Given the description of an element on the screen output the (x, y) to click on. 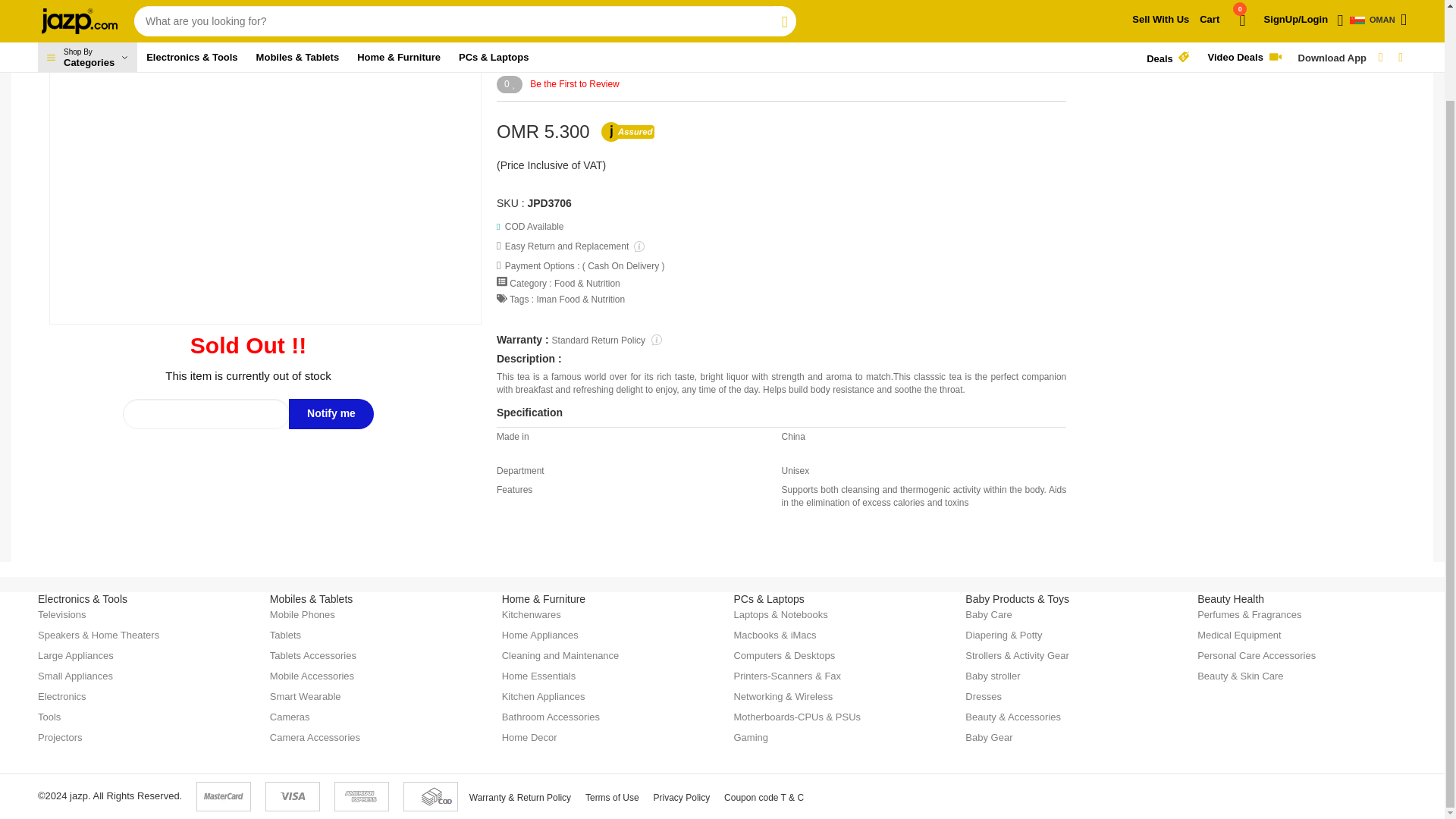
Notify me (331, 413)
